Given the description of an element on the screen output the (x, y) to click on. 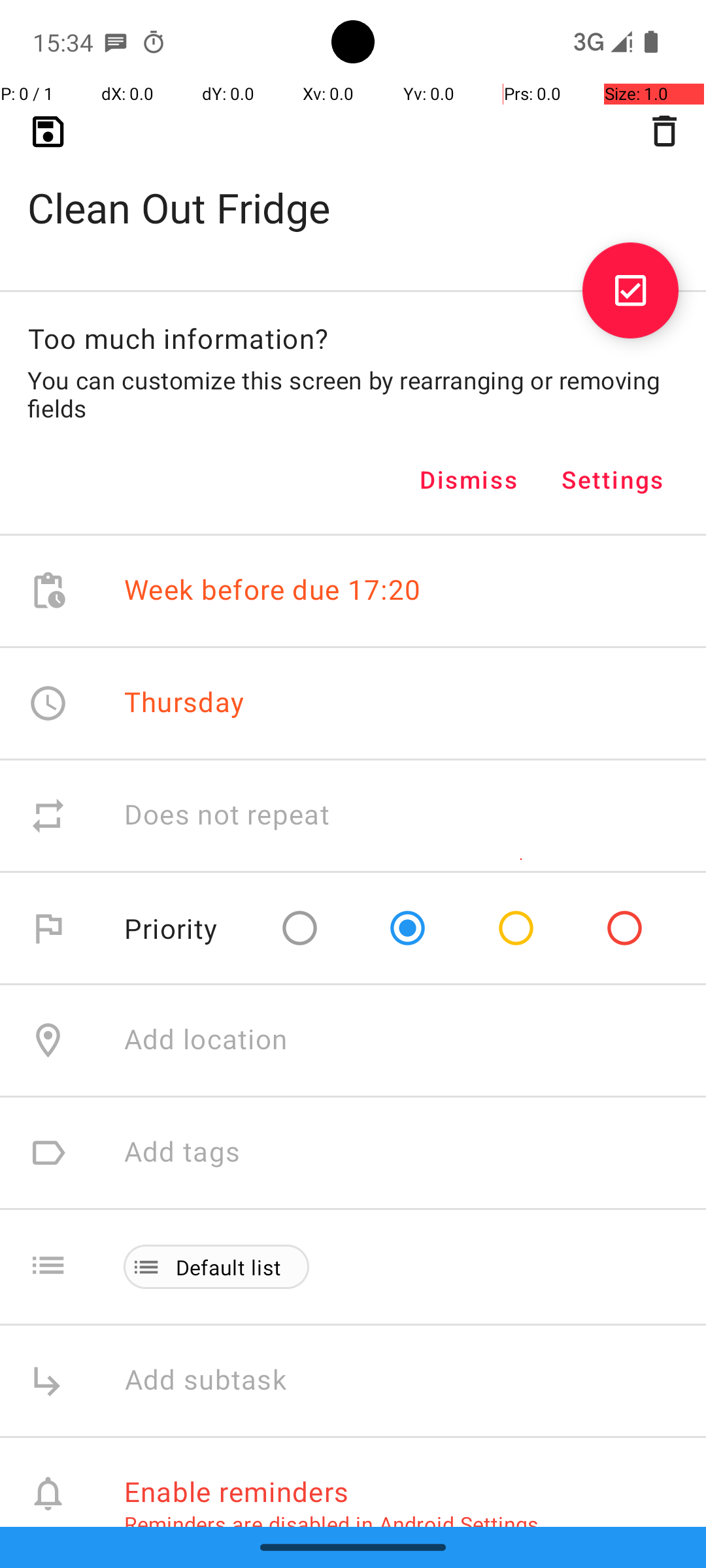
Week before due 17:20 Element type: android.widget.TextView (272, 590)
